Given the description of an element on the screen output the (x, y) to click on. 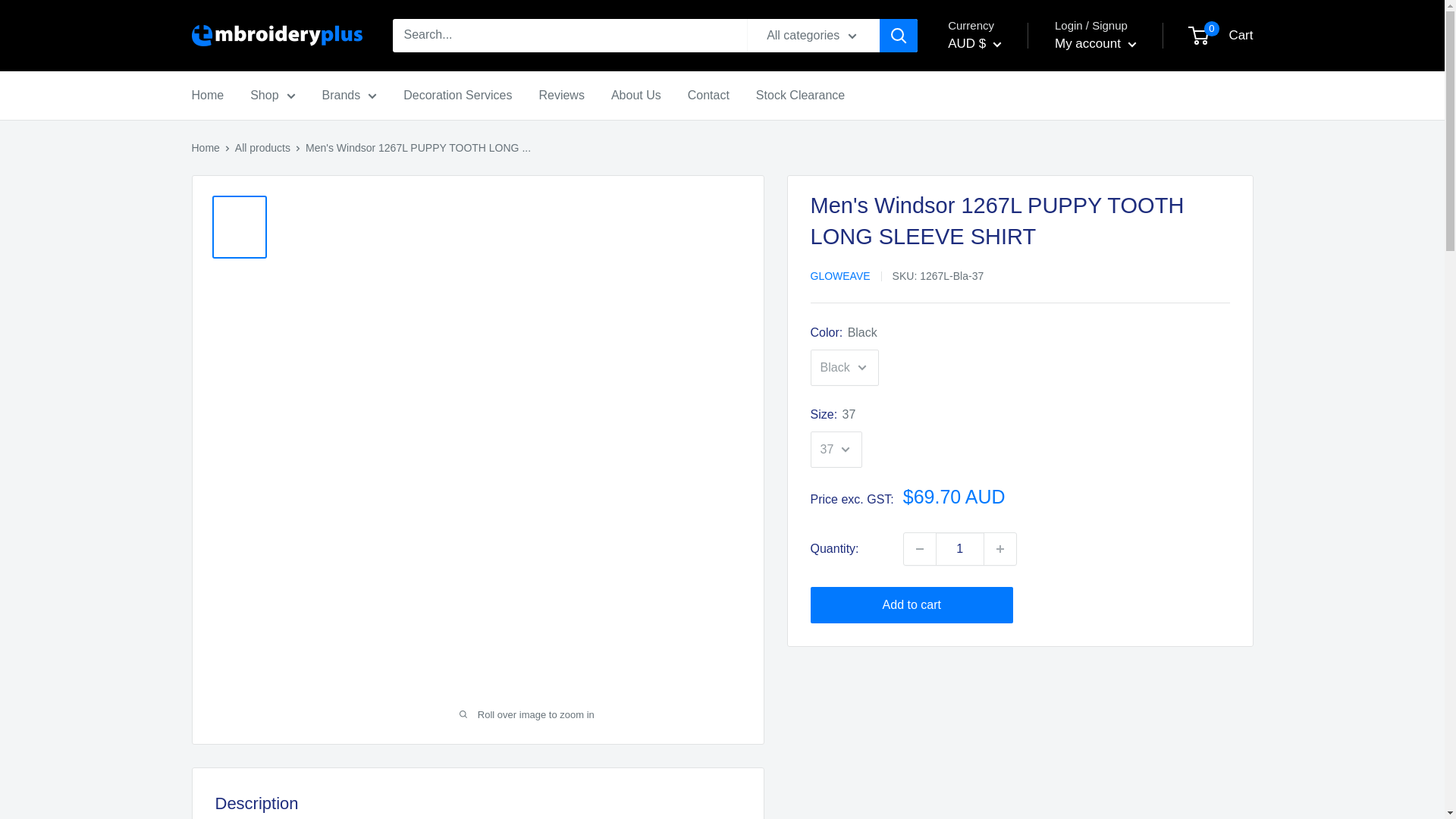
Increase quantity by 1 (1000, 549)
1 (960, 549)
Decrease quantity by 1 (920, 549)
